Given the description of an element on the screen output the (x, y) to click on. 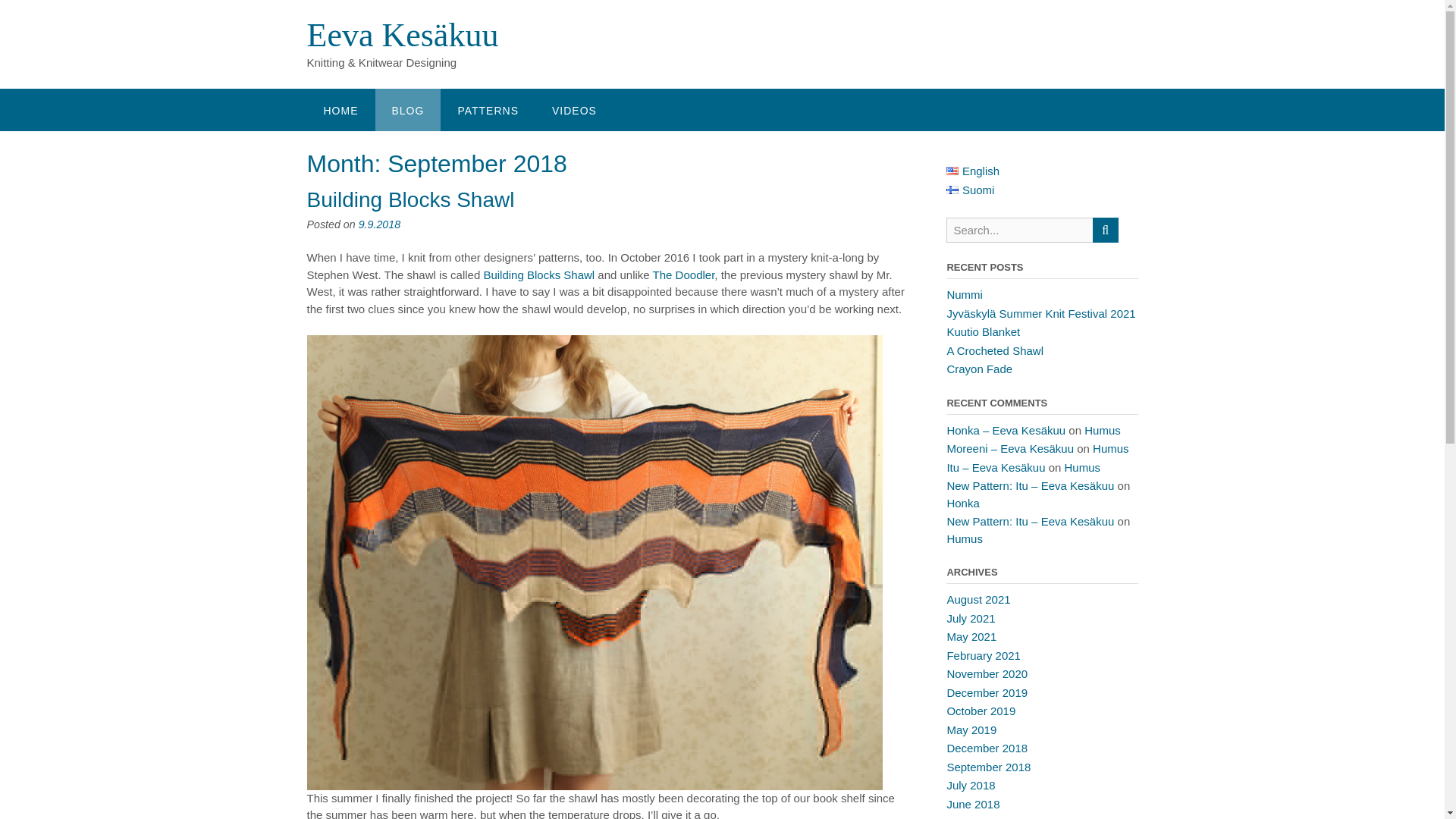
Nummi (964, 294)
HOME (339, 109)
Building Blocks Shawl (409, 199)
9.9.2018 (379, 224)
A Crocheted Shawl (994, 350)
PATTERNS (488, 109)
Crayon Fade (978, 368)
Humus (1082, 467)
VIDEOS (573, 109)
BLOG (407, 109)
The Doodler (683, 274)
English (972, 170)
Honka (962, 502)
Building Blocks Shawl (538, 274)
Humus (1111, 448)
